Given the description of an element on the screen output the (x, y) to click on. 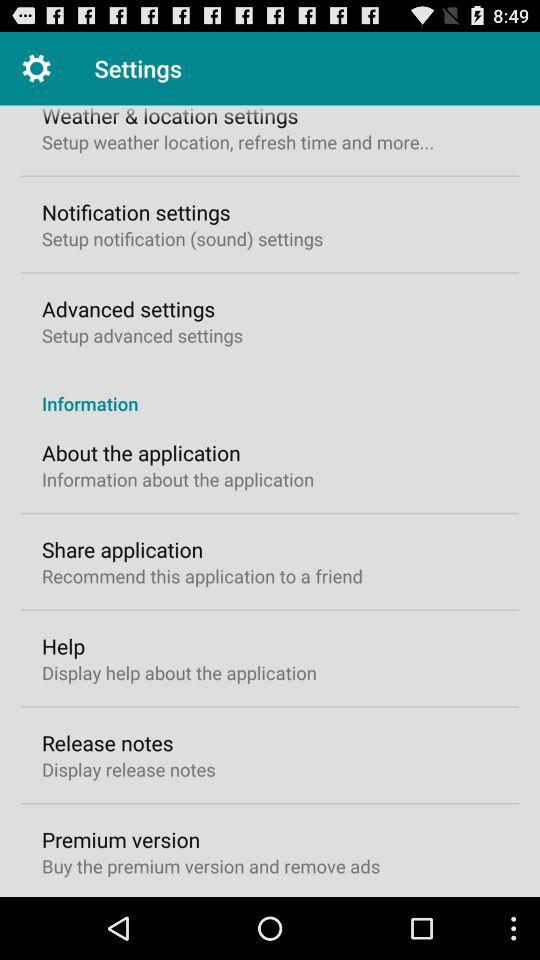
flip until display help about item (179, 672)
